Given the description of an element on the screen output the (x, y) to click on. 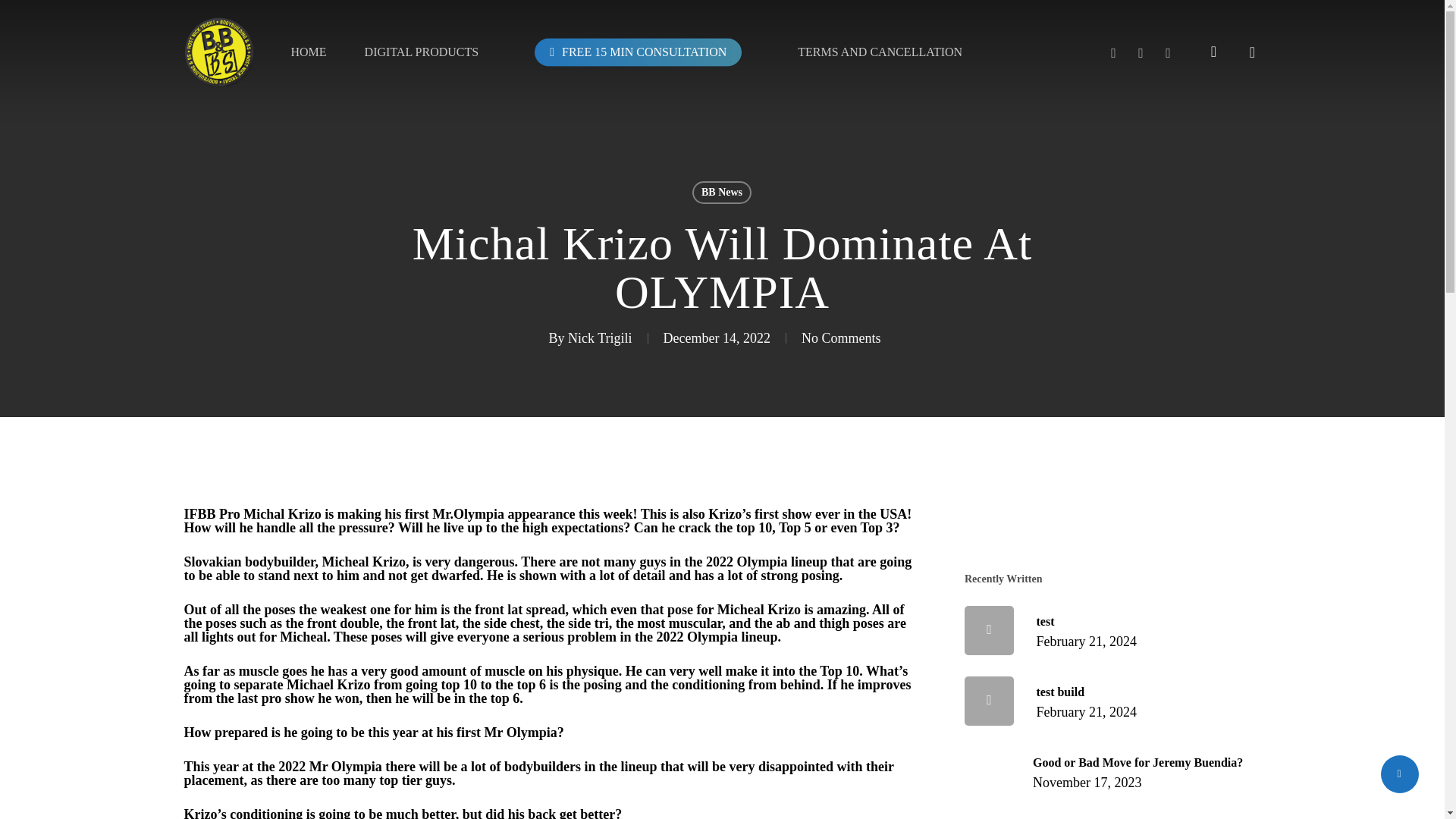
HOME (307, 51)
INSTAGRAM (1111, 771)
SPOTIFY (1112, 51)
TERMS AND CANCELLATION (1140, 51)
BB News (879, 51)
FREE 15 MIN CONSULTATION (722, 191)
Posts by Nick Trigili (638, 51)
No Comments (599, 337)
account (841, 337)
WHATSAPP (1213, 51)
Nick Trigili (1111, 700)
DIGITAL PRODUCTS (1111, 630)
